Given the description of an element on the screen output the (x, y) to click on. 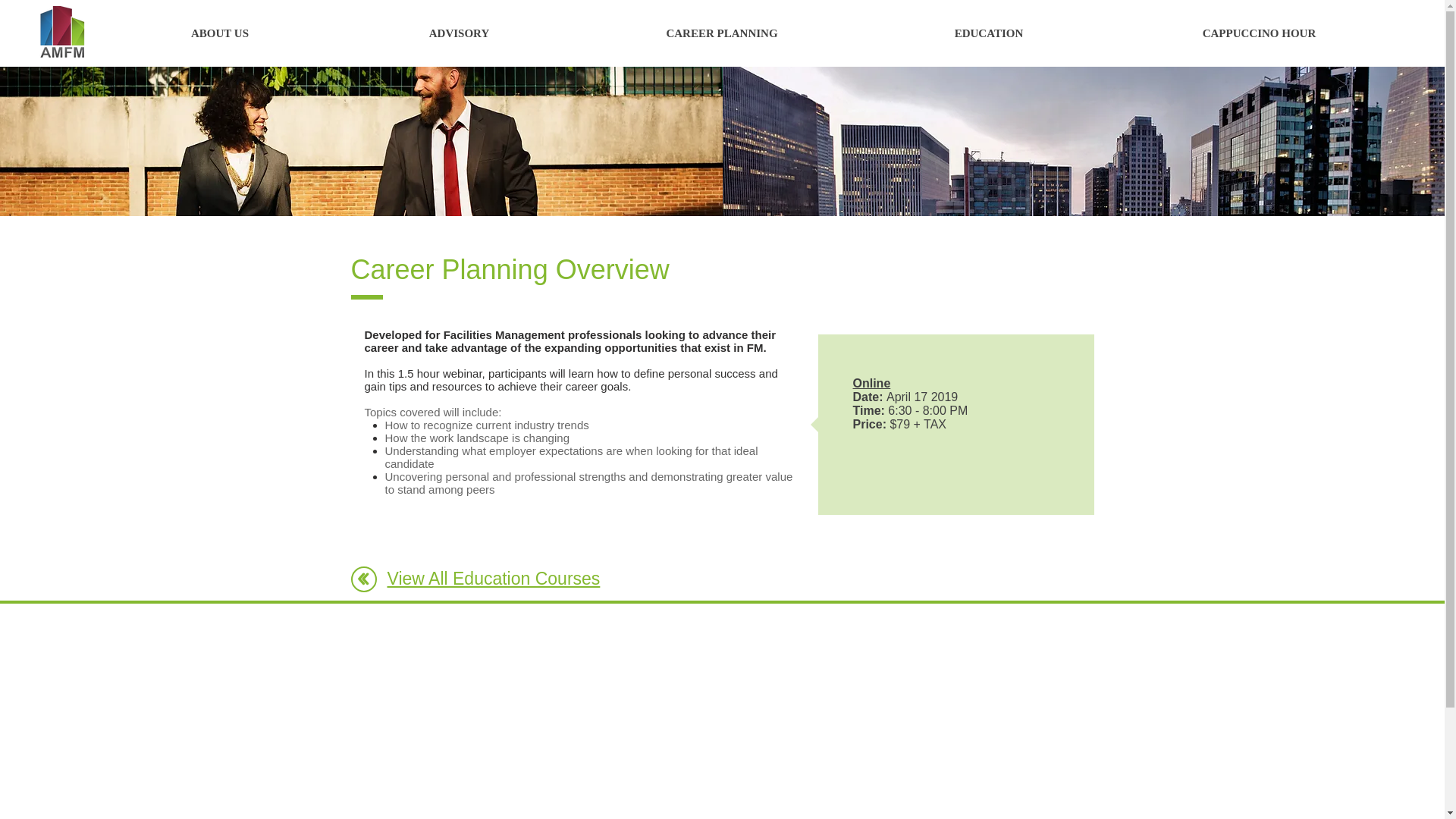
CAPPUCCINO HOUR (1258, 33)
Embedded Content (952, 457)
CAREER PLANNING (721, 33)
EDUCATION (988, 33)
AMFM Website Mini Logo.png (63, 31)
View All Education Courses (493, 578)
ABOUT US (219, 33)
ADVISORY (458, 33)
